Given the description of an element on the screen output the (x, y) to click on. 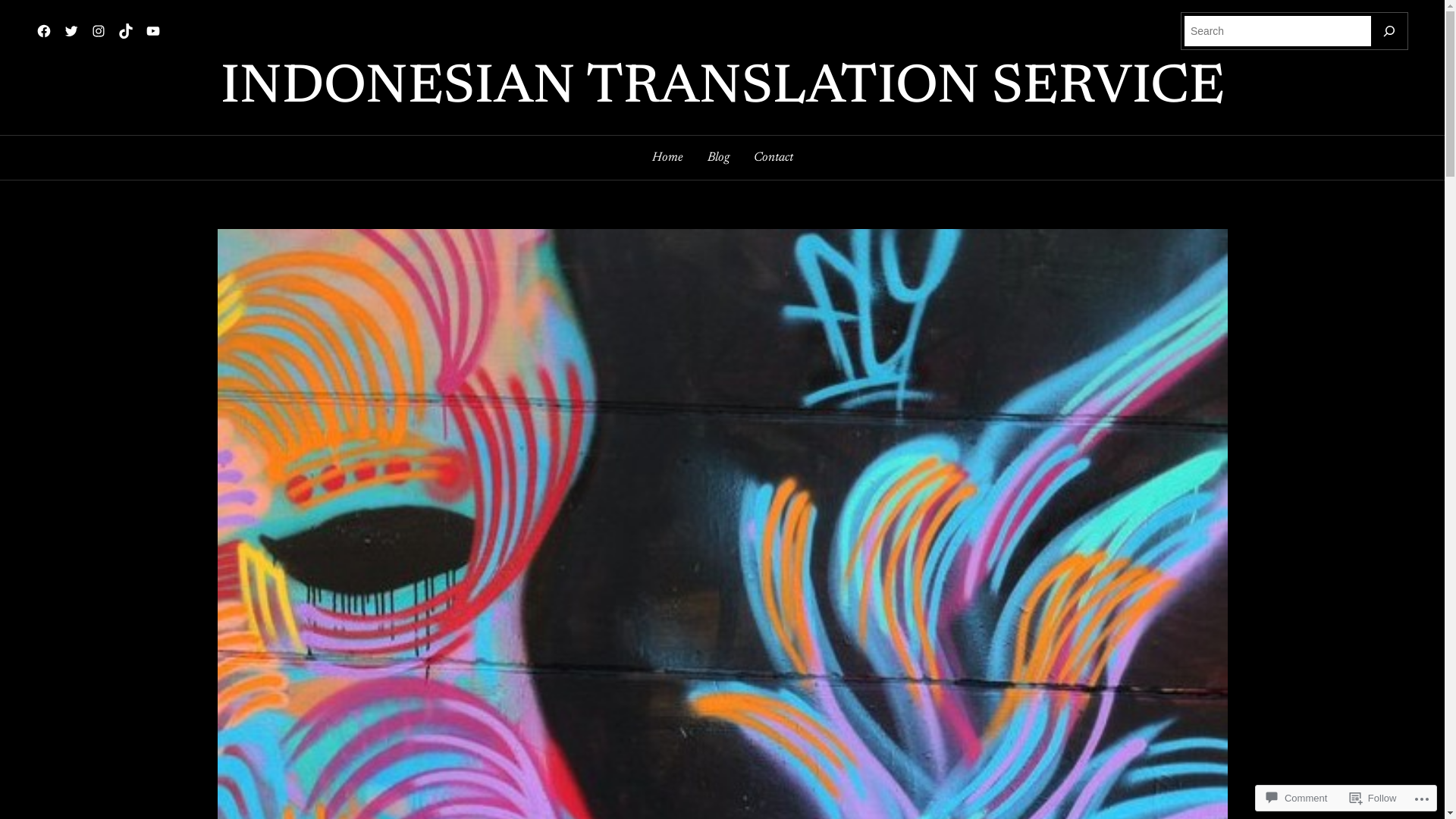
Follow Element type: text (1372, 797)
Comment Element type: text (1296, 797)
Contact Element type: text (773, 157)
Blog Element type: text (717, 157)
INDONESIAN TRANSLATION SERVICE Element type: text (721, 88)
Home Element type: text (667, 157)
